Given the description of an element on the screen output the (x, y) to click on. 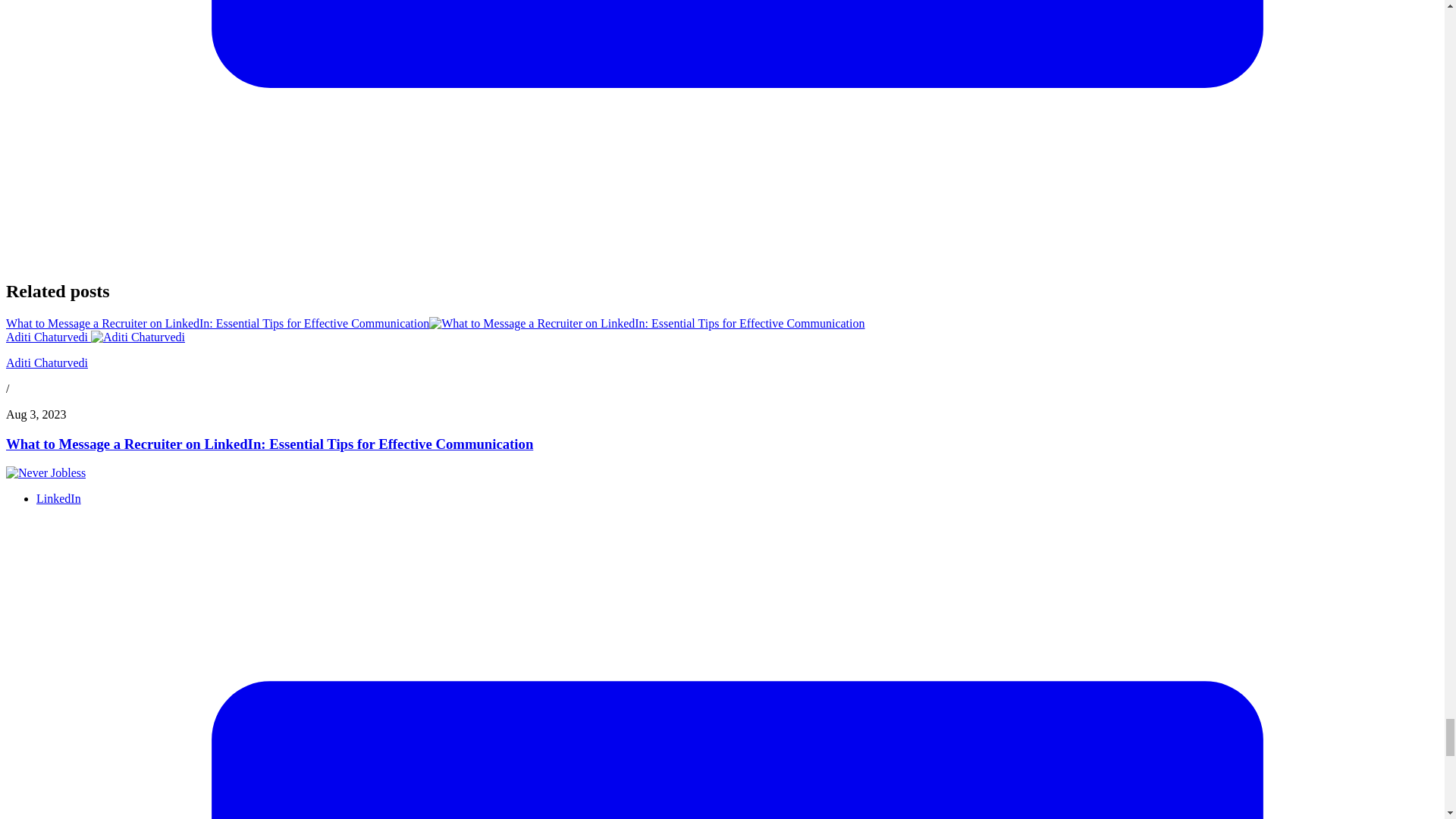
Aditi Chaturvedi (94, 336)
